Given the description of an element on the screen output the (x, y) to click on. 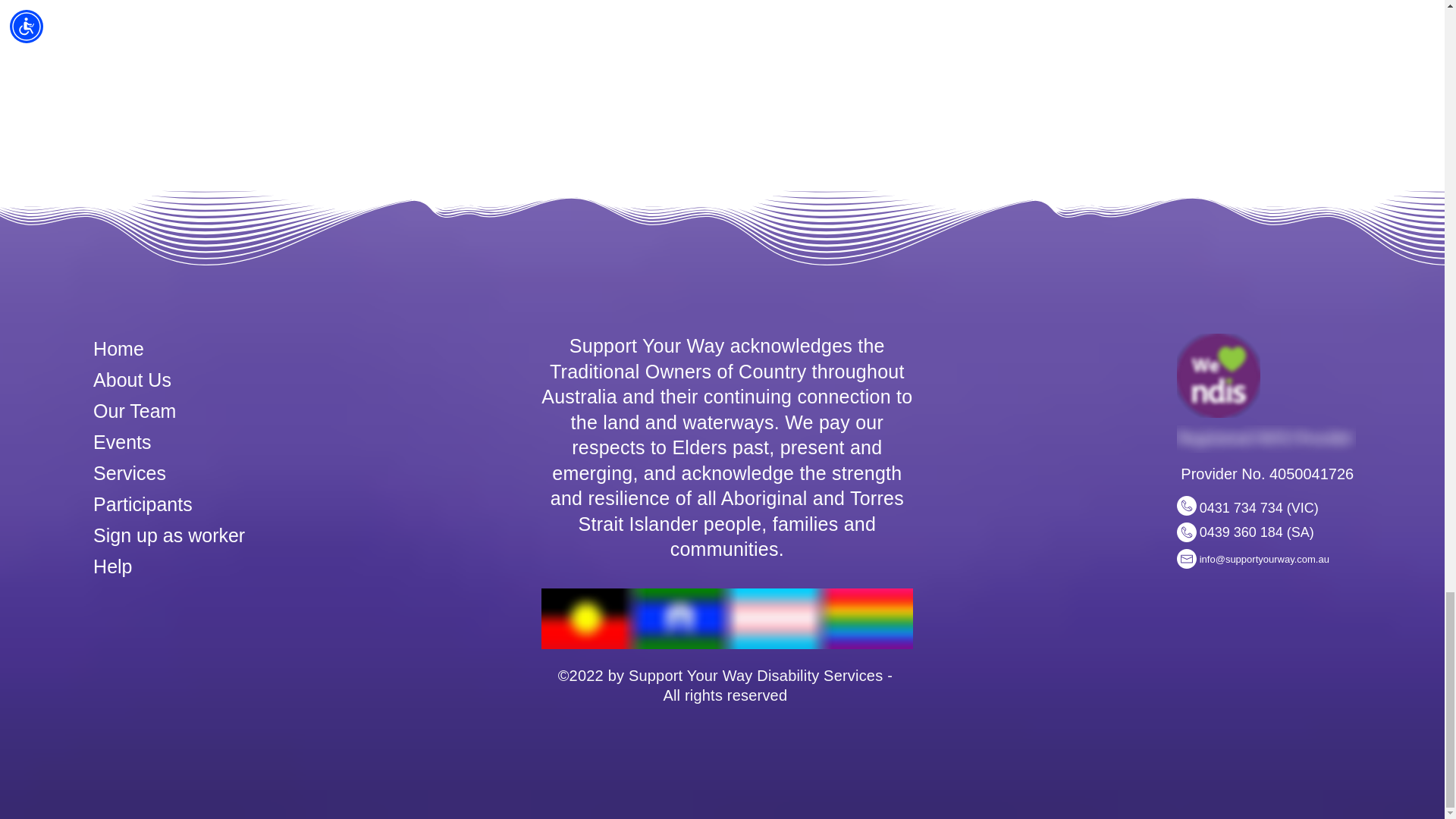
Home (118, 348)
About Us  (134, 379)
Participants (142, 504)
Events (122, 441)
Services (129, 473)
Our Team (134, 410)
